Given the description of an element on the screen output the (x, y) to click on. 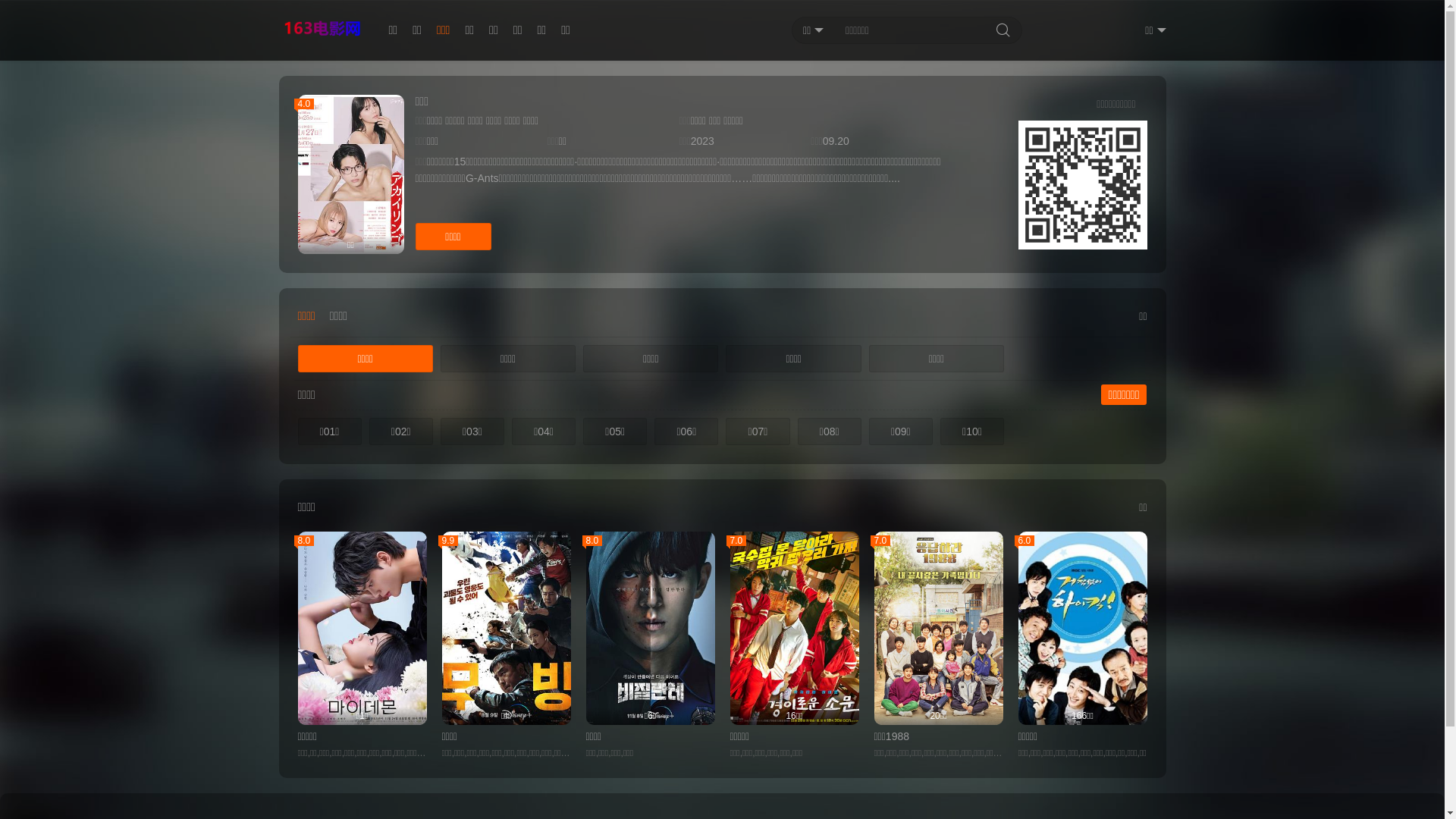
2023 Element type: text (702, 140)
